Given the description of an element on the screen output the (x, y) to click on. 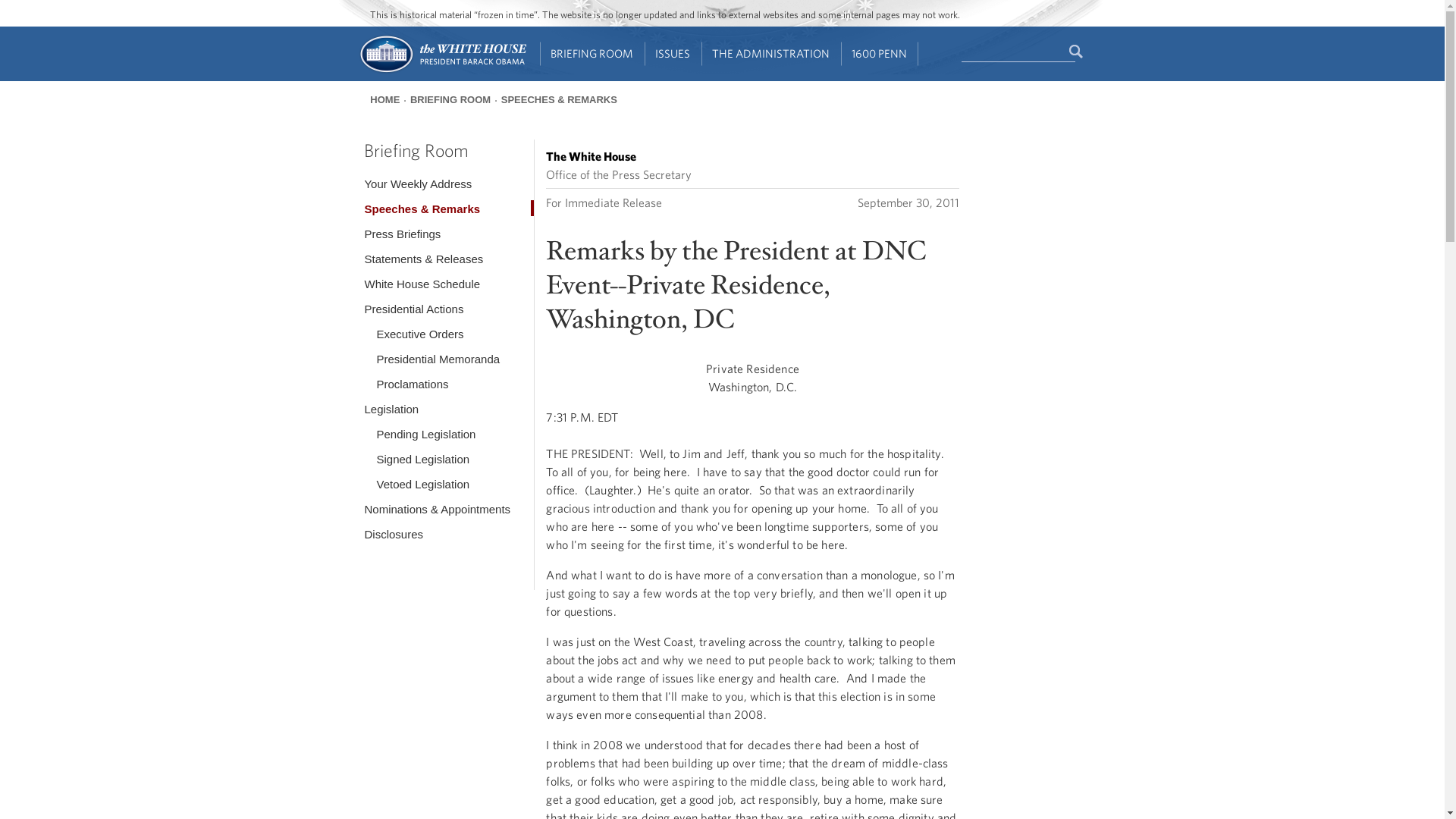
BRIEFING ROOM (592, 53)
Home (441, 70)
ISSUES (673, 53)
Enter the terms you wish to search for. (1017, 52)
Search (1076, 51)
